Given the description of an element on the screen output the (x, y) to click on. 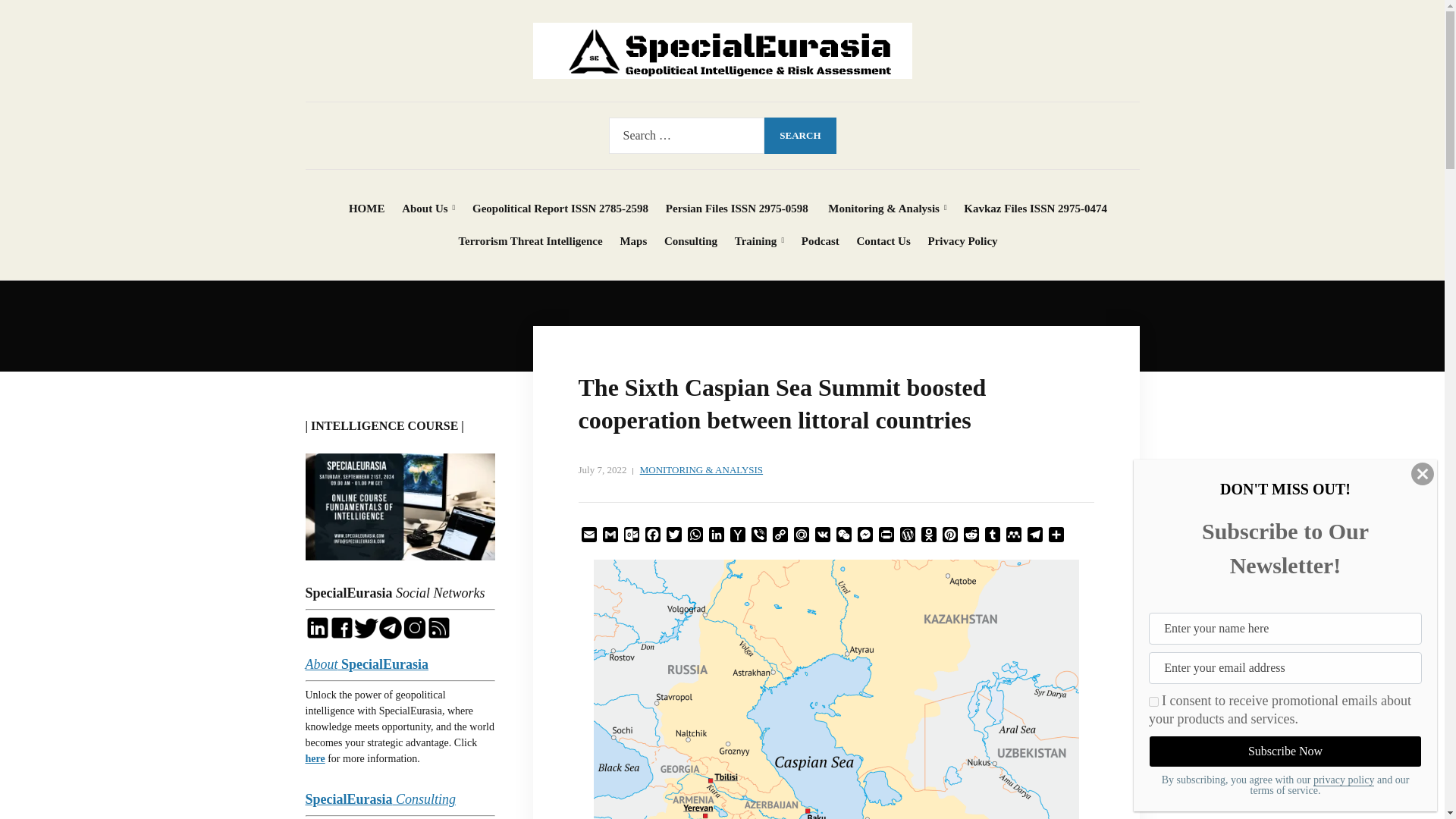
VK (821, 536)
Copy Link (779, 536)
Messenger (864, 536)
LinkedIn (715, 536)
Mail.Ru (800, 536)
Yahoo Mail (737, 536)
Print (885, 536)
Search (799, 135)
1 (1153, 701)
Email (588, 536)
